Given the description of an element on the screen output the (x, y) to click on. 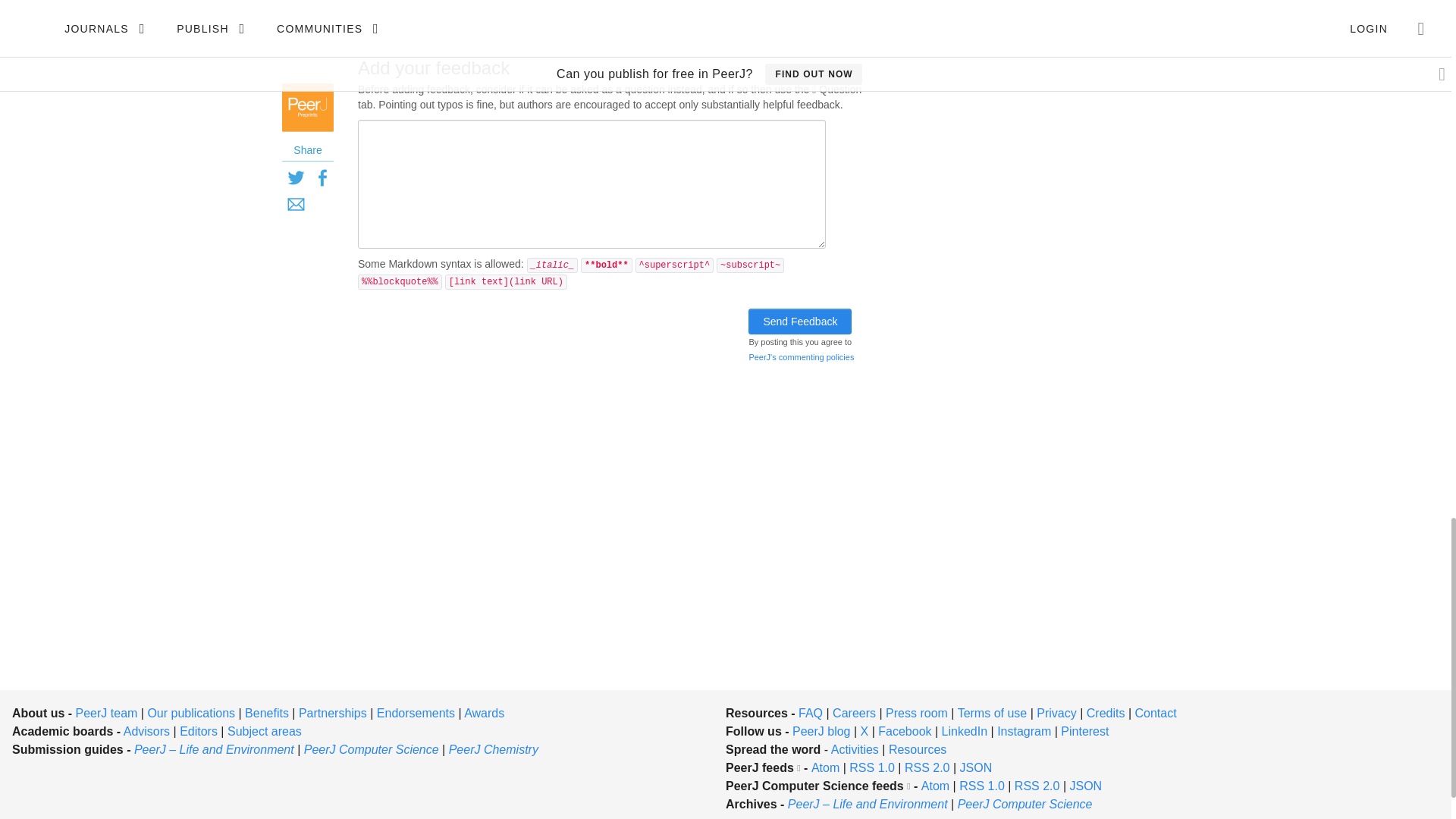
Send Feedback (799, 321)
PeerJ's commenting policies (800, 356)
Feedback (425, 11)
Links (606, 11)
Questions (523, 11)
